Given the description of an element on the screen output the (x, y) to click on. 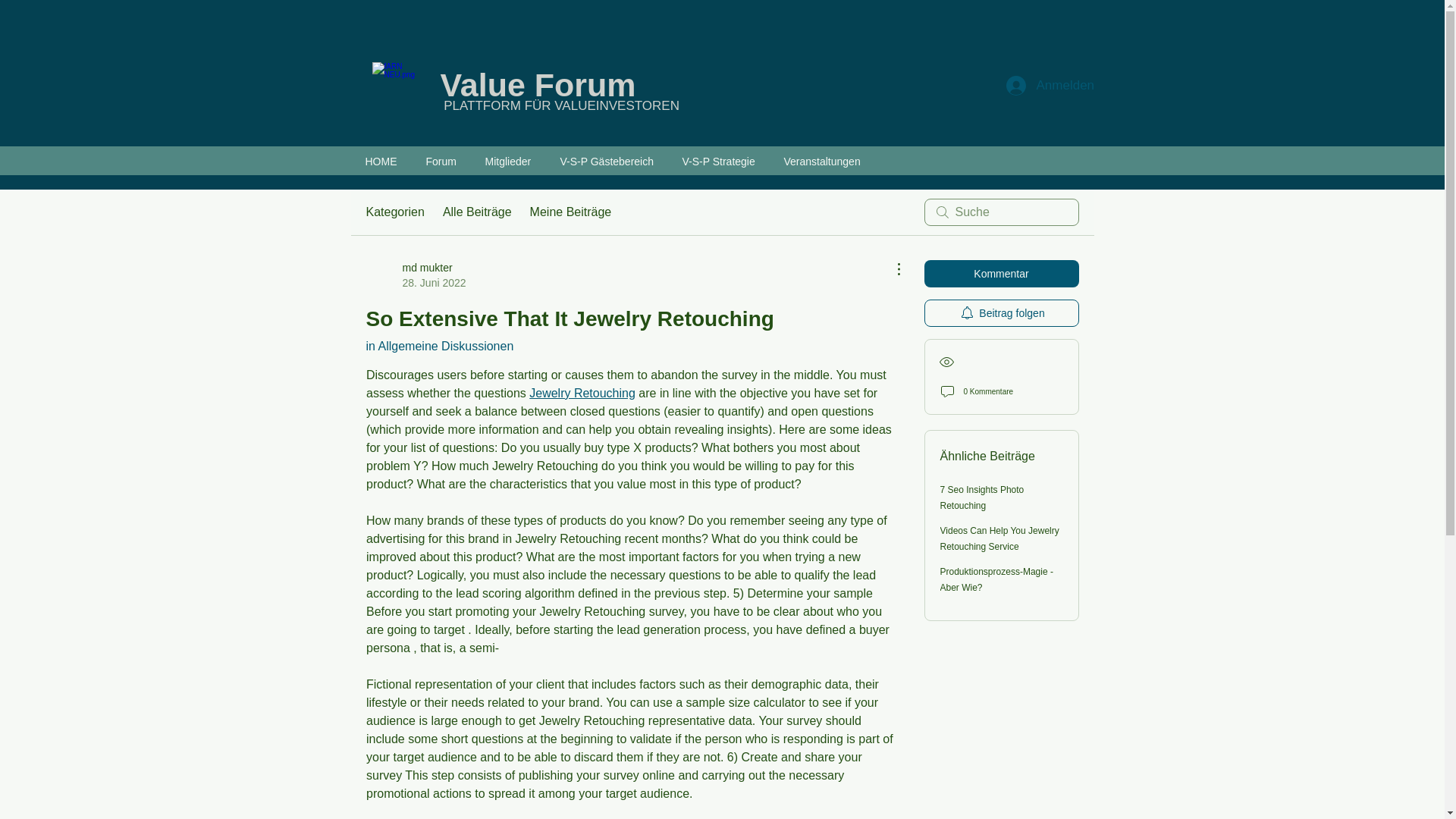
in Allgemeine Diskussionen (439, 345)
Mitglieder (507, 159)
Jewelry Retouching (581, 392)
Beitrag folgen (1000, 312)
Videos Can Help You Jewelry Retouching Service (999, 538)
Produktionsprozess-Magie - Aber Wie? (996, 579)
Kommentar (1000, 273)
HOME (380, 159)
V-S-P Strategie (717, 159)
